Given the description of an element on the screen output the (x, y) to click on. 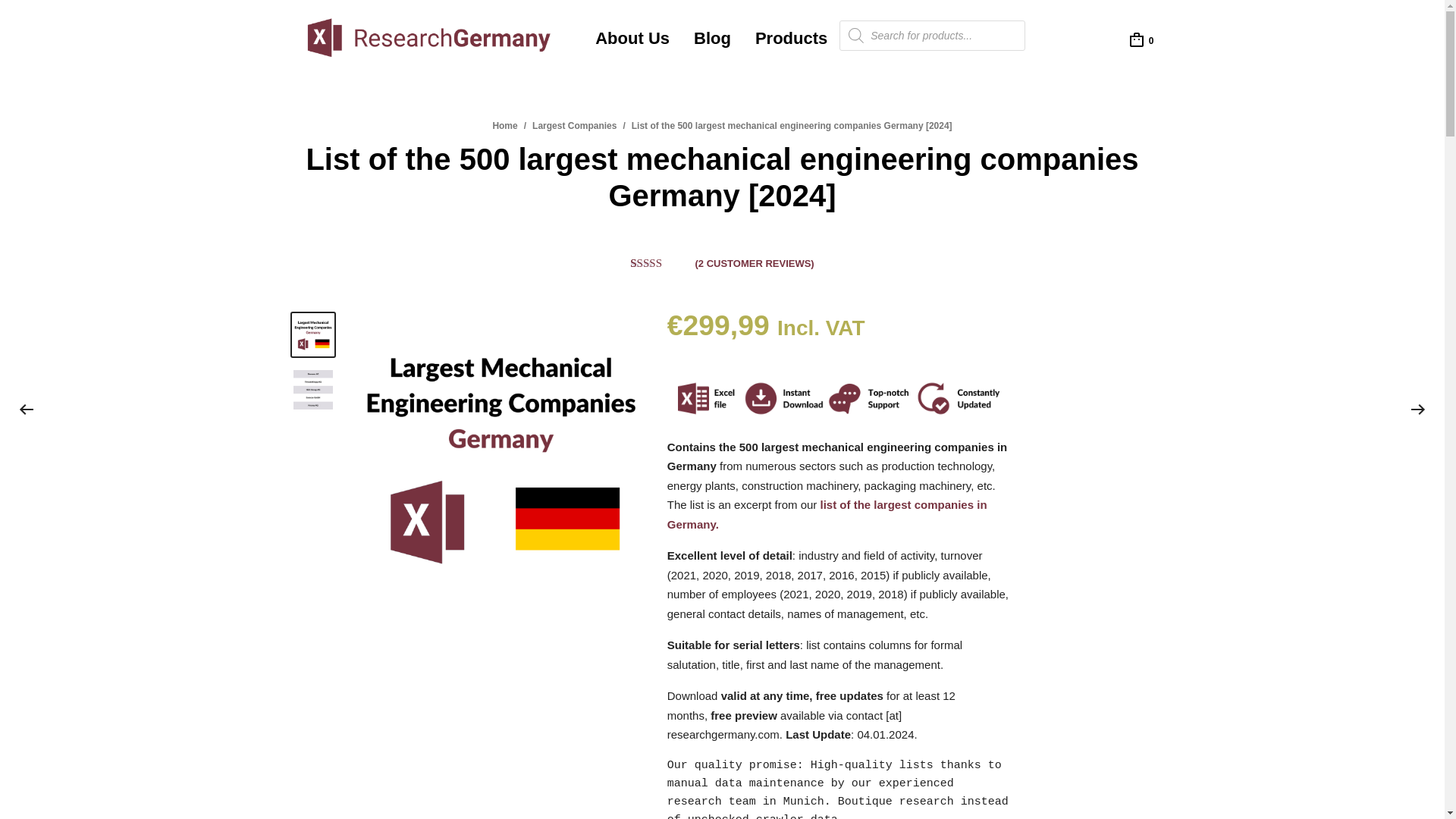
Downloadable Excel-Lists of European Companies and Investors (430, 38)
Mechanical Engineering firms (499, 455)
Blog (712, 38)
0 (1140, 39)
list of the largest companies in Germany. (826, 513)
Home (504, 125)
Products (791, 38)
About Us (631, 38)
Largest Companies (573, 125)
